Given the description of an element on the screen output the (x, y) to click on. 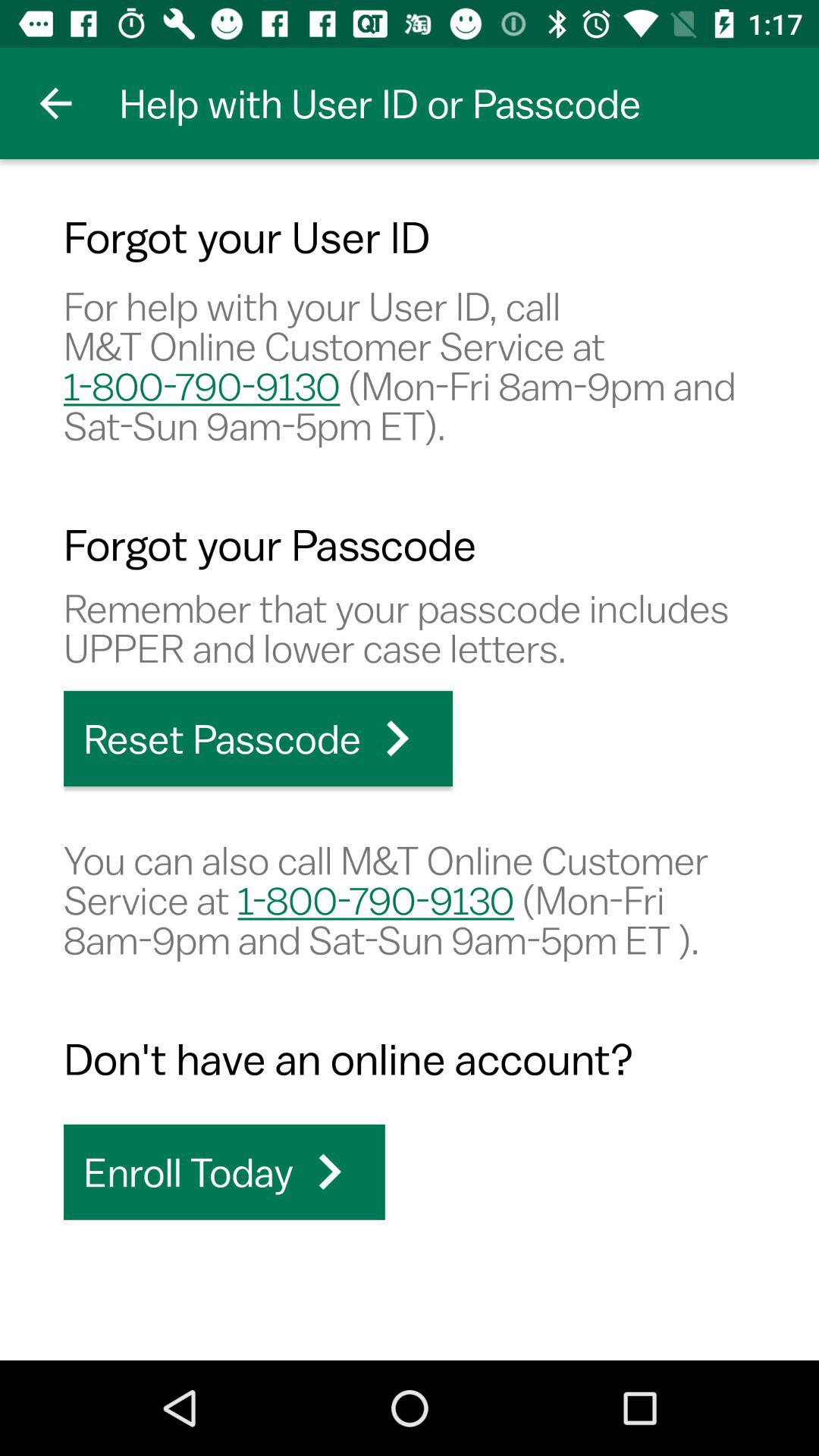
select icon below remember that your (257, 738)
